Given the description of an element on the screen output the (x, y) to click on. 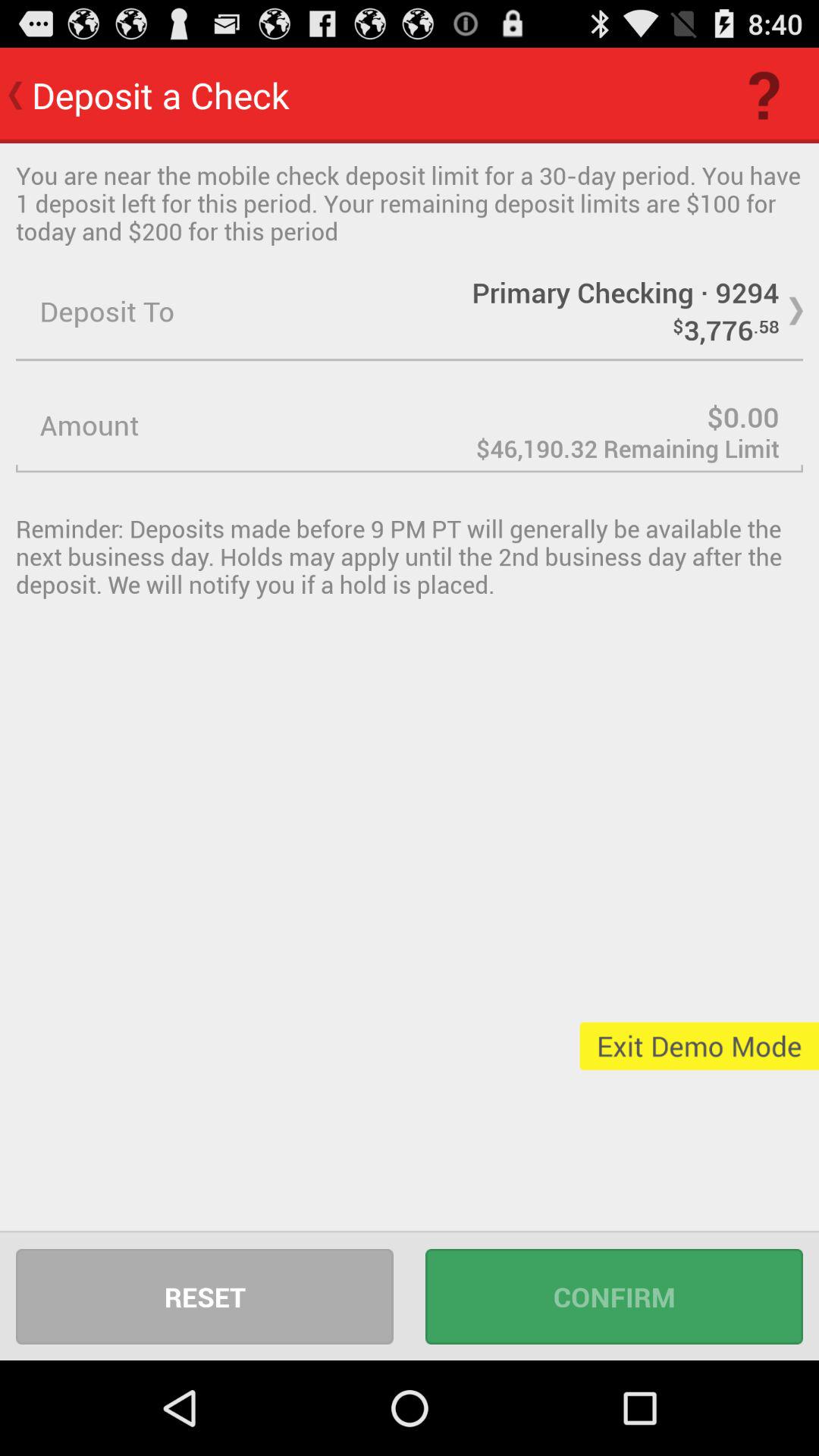
press reset (204, 1296)
